Given the description of an element on the screen output the (x, y) to click on. 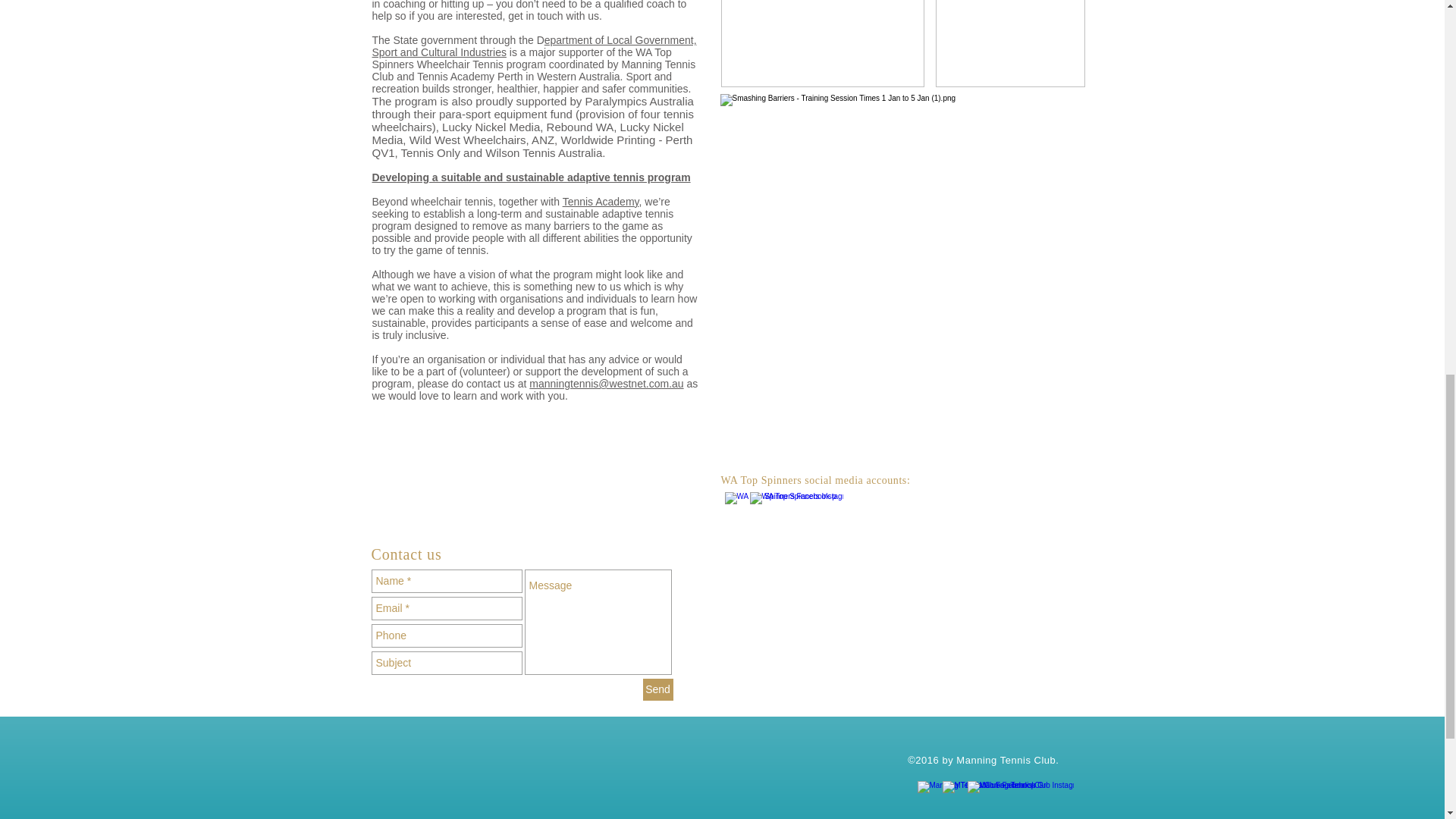
Tennis Academy (600, 201)
epartment of Local Government, Sport and Cultural Industries (533, 46)
wheelchair tennis 3.jpg (1010, 43)
Send (657, 689)
wheelchair tennis 5.jpg (821, 43)
